Given the description of an element on the screen output the (x, y) to click on. 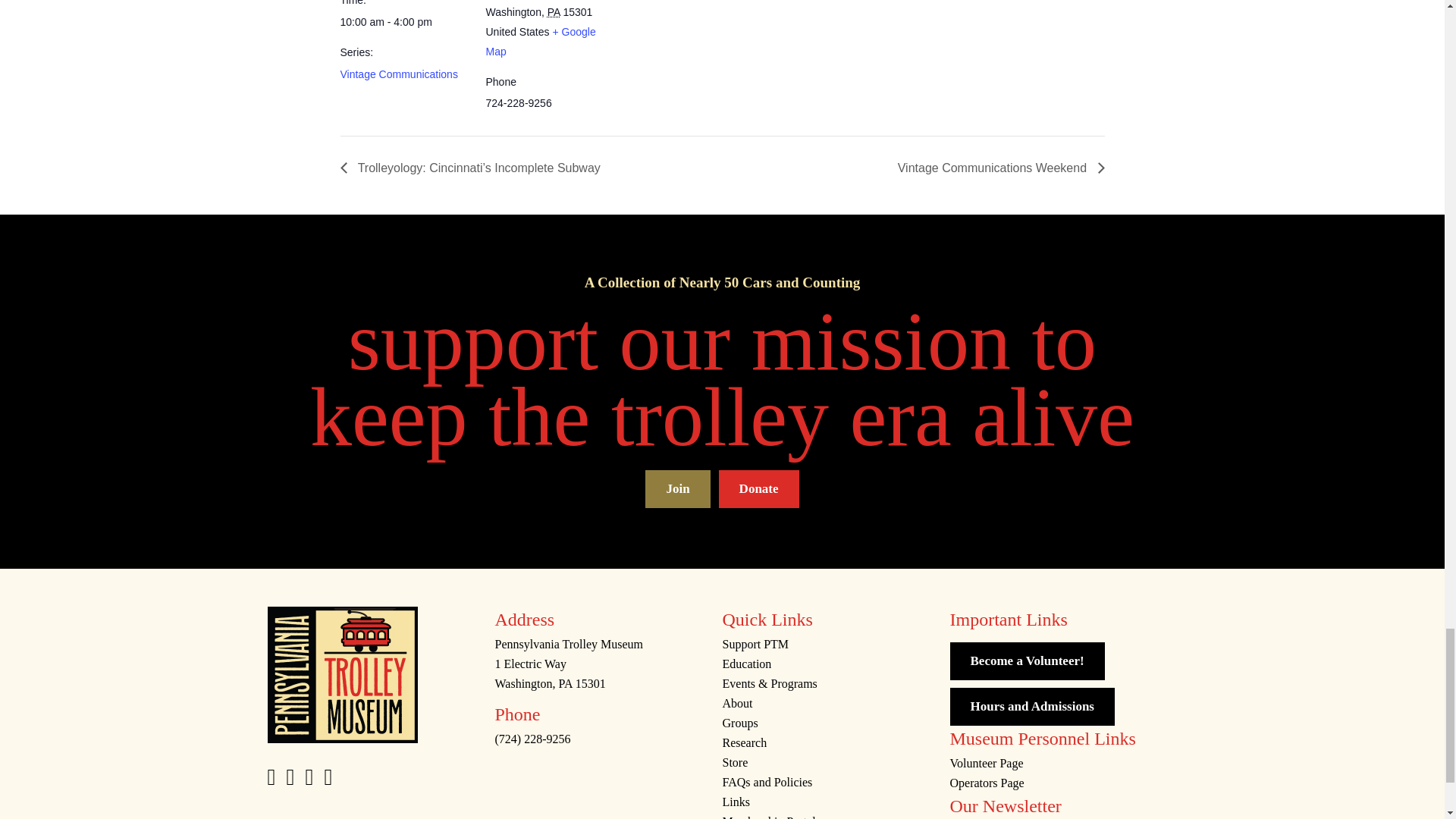
Vintage Communications (398, 73)
2024-05-04 (403, 21)
Facebook - pennsylvania trolley museum (270, 780)
Pennsylvania (553, 11)
Click to view a Google Map (539, 41)
